Given the description of an element on the screen output the (x, y) to click on. 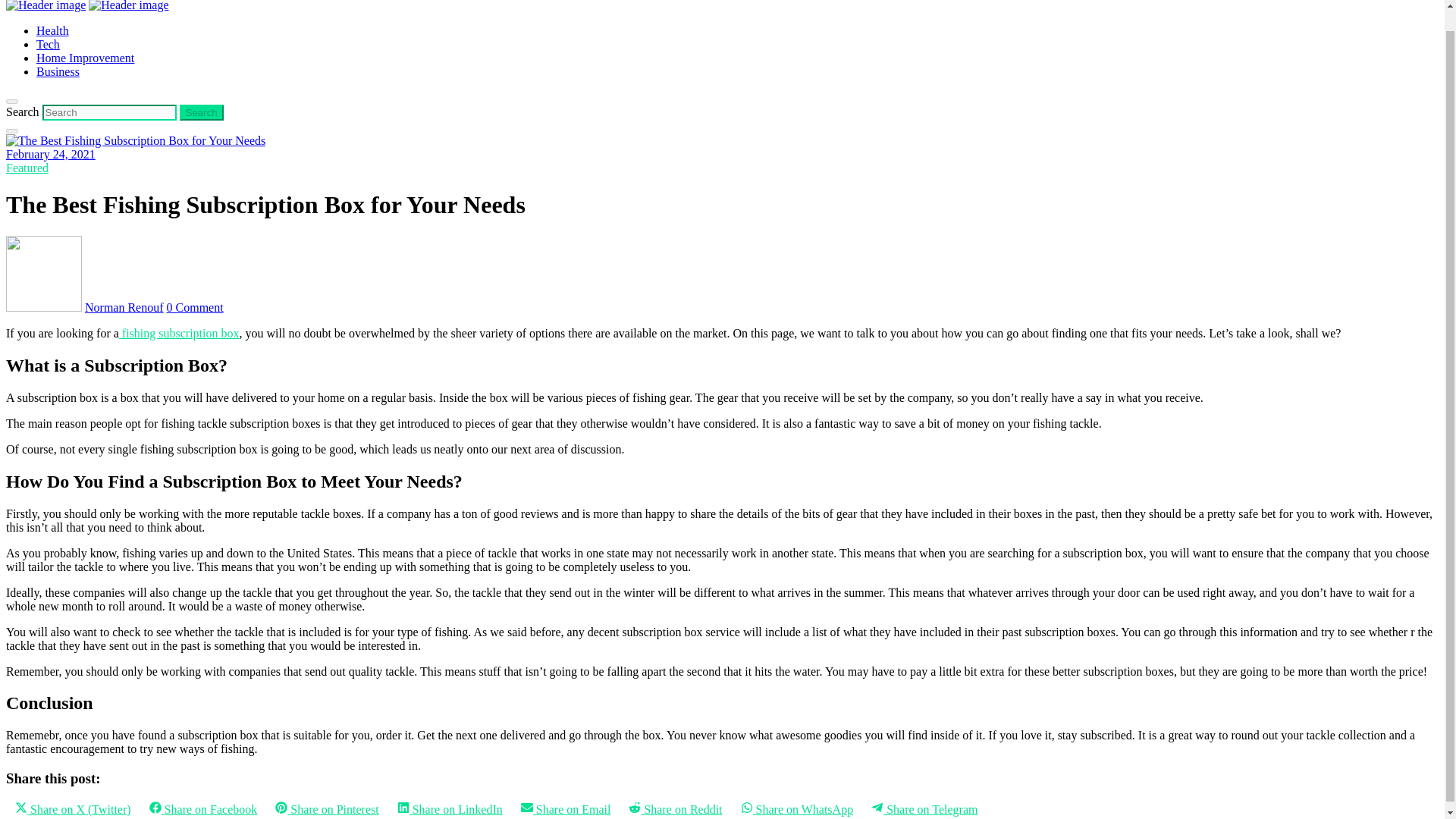
Search (201, 112)
Norman Renouf (123, 307)
The Best Fishing Subscription Box for Your Needs (134, 140)
Featured (26, 167)
Tech (47, 43)
 fishing subscription box (179, 332)
Home Improvement (84, 57)
February 24, 2021 (50, 154)
0 Comment (195, 307)
Search (201, 112)
